Given the description of an element on the screen output the (x, y) to click on. 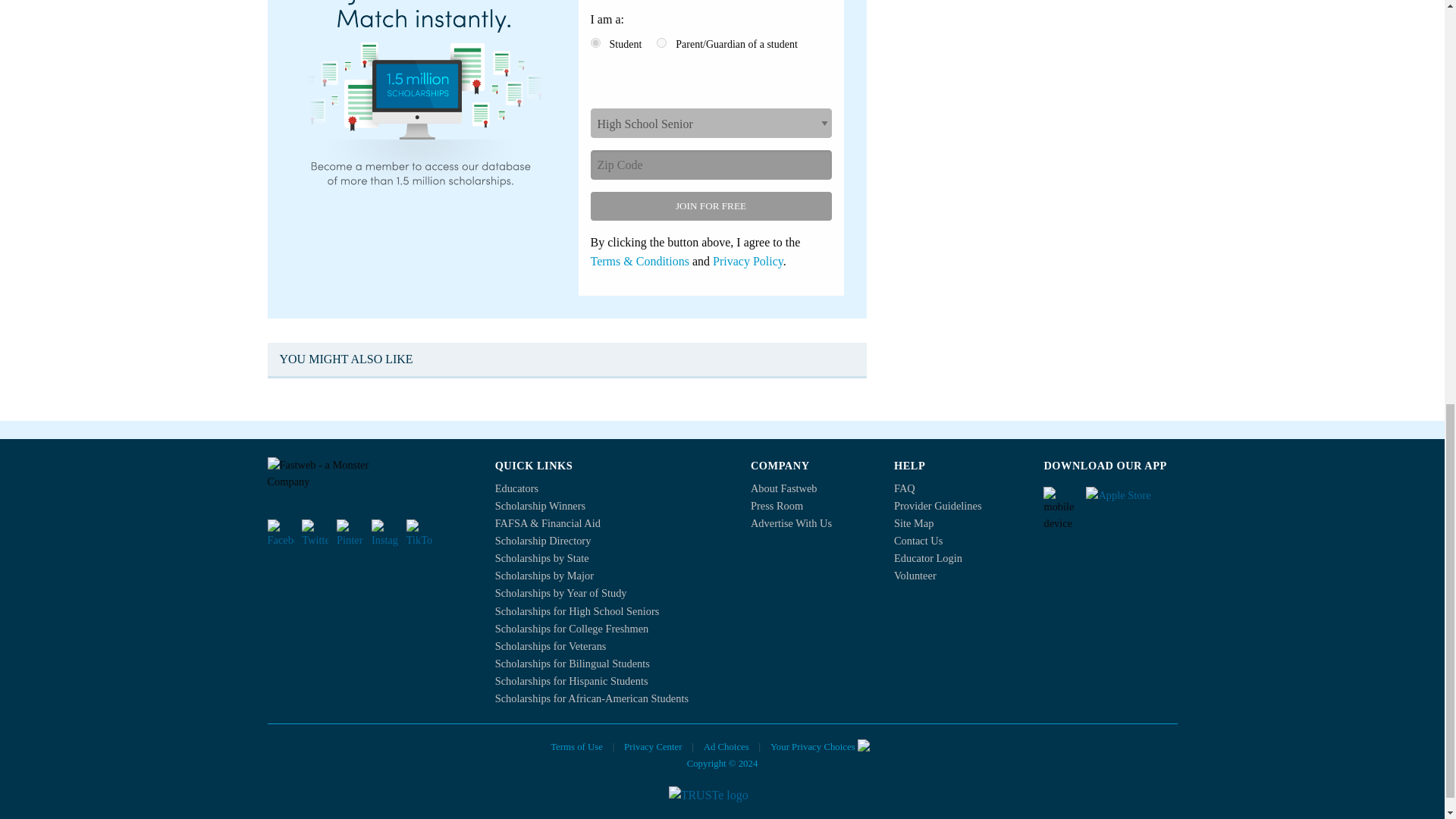
Fastweb on Instagram (384, 532)
1 (594, 42)
Fastweb on TikTok (419, 532)
Fastweb on Pinterest (349, 532)
Join for free (710, 205)
2 (661, 42)
Fastweb on IOS (1131, 500)
Fastweb on Facebook (280, 532)
